Given the description of an element on the screen output the (x, y) to click on. 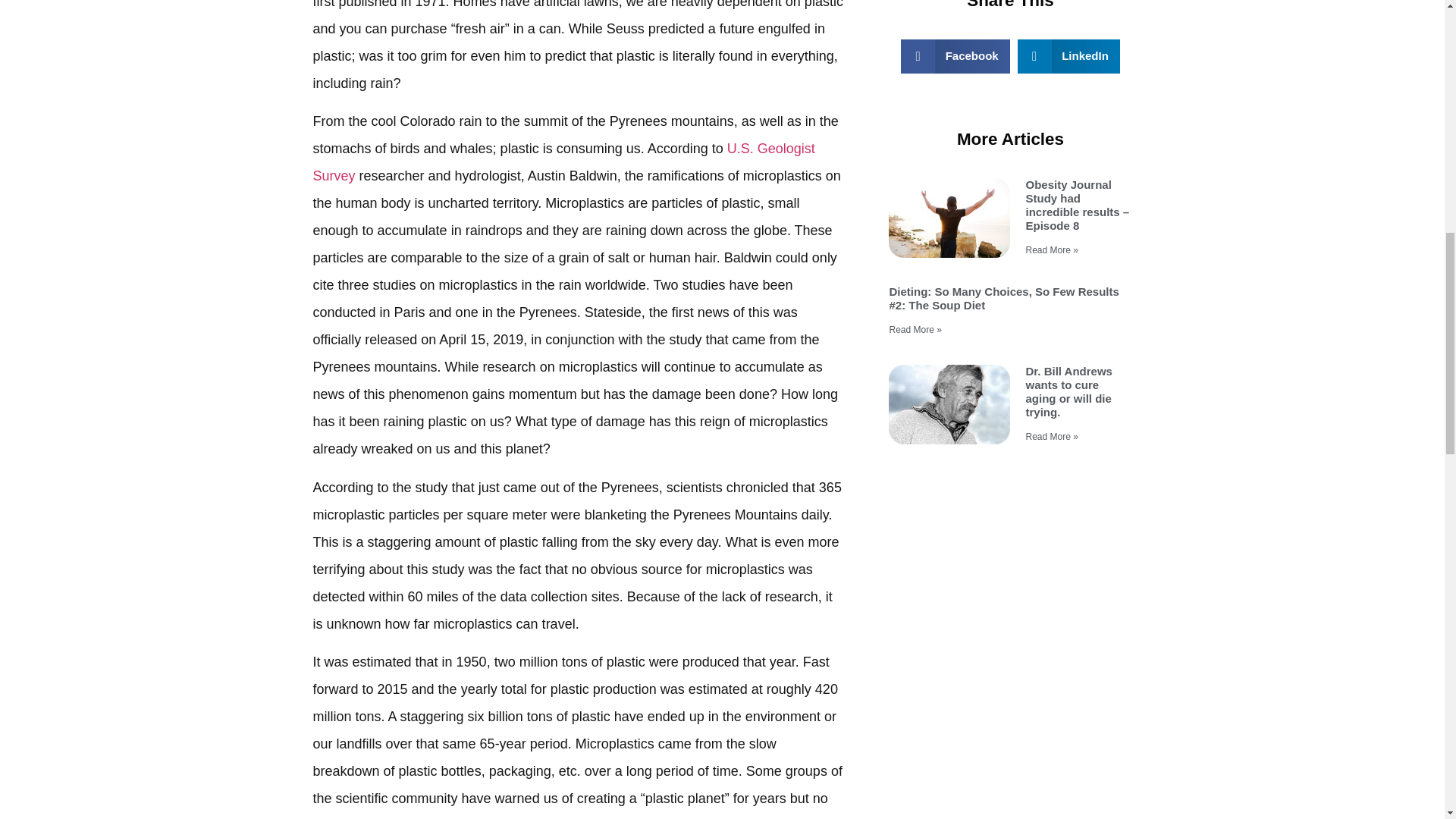
U.S. Geologist Survey (563, 161)
Dr. Bill Andrews wants to cure aging or will die trying. (1068, 391)
